Given the description of an element on the screen output the (x, y) to click on. 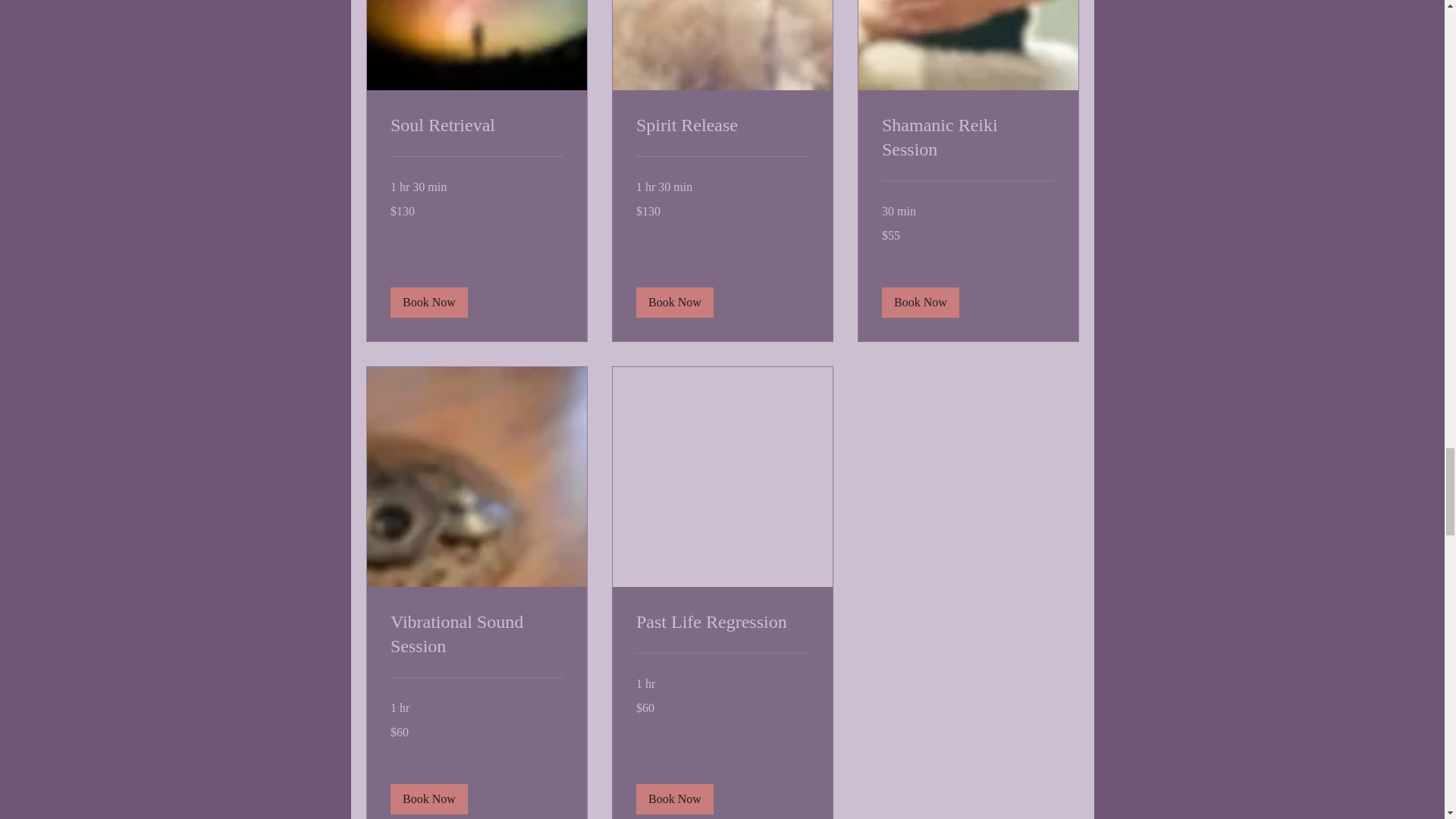
Book Now (428, 302)
Soul Retrieval (476, 125)
Shamanic Reiki Session (967, 137)
Book Now (673, 302)
Spirit Release (721, 125)
